Given the description of an element on the screen output the (x, y) to click on. 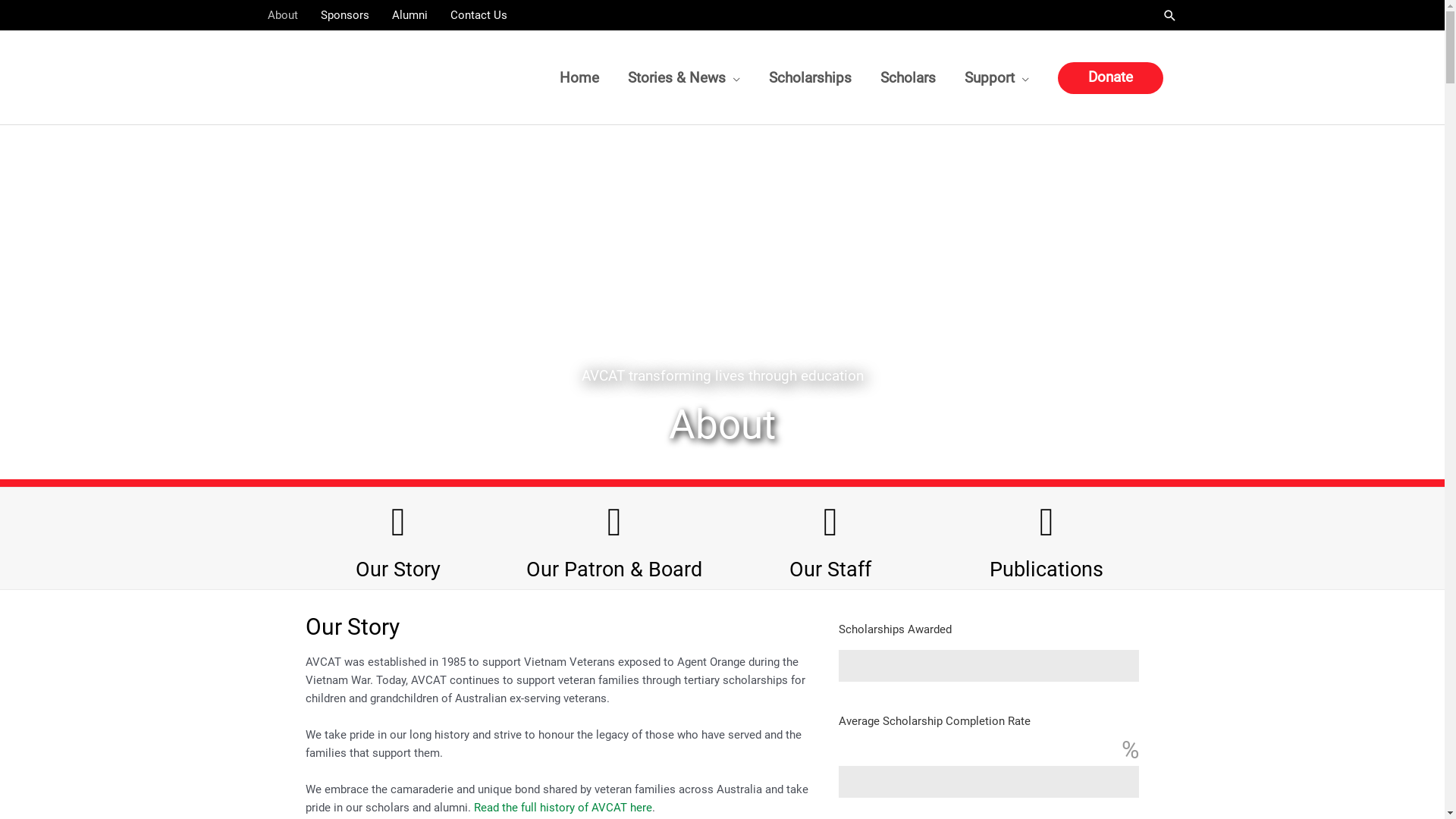
Our Patron & Board Element type: text (614, 569)
Our Staff Element type: text (830, 569)
Contact Us Element type: text (477, 15)
Read the full history of AVCAT here Element type: text (562, 807)
Alumni Element type: text (409, 15)
About Element type: text (287, 15)
Search Element type: text (1168, 14)
Scholars Element type: text (908, 77)
Sponsors Element type: text (344, 15)
Home Element type: text (578, 77)
Stories & News Element type: text (682, 77)
Scholarships Element type: text (809, 77)
Publications Element type: text (1046, 569)
Support Element type: text (995, 77)
Our Story Element type: text (397, 569)
Donate Element type: text (1109, 78)
